Given the description of an element on the screen output the (x, y) to click on. 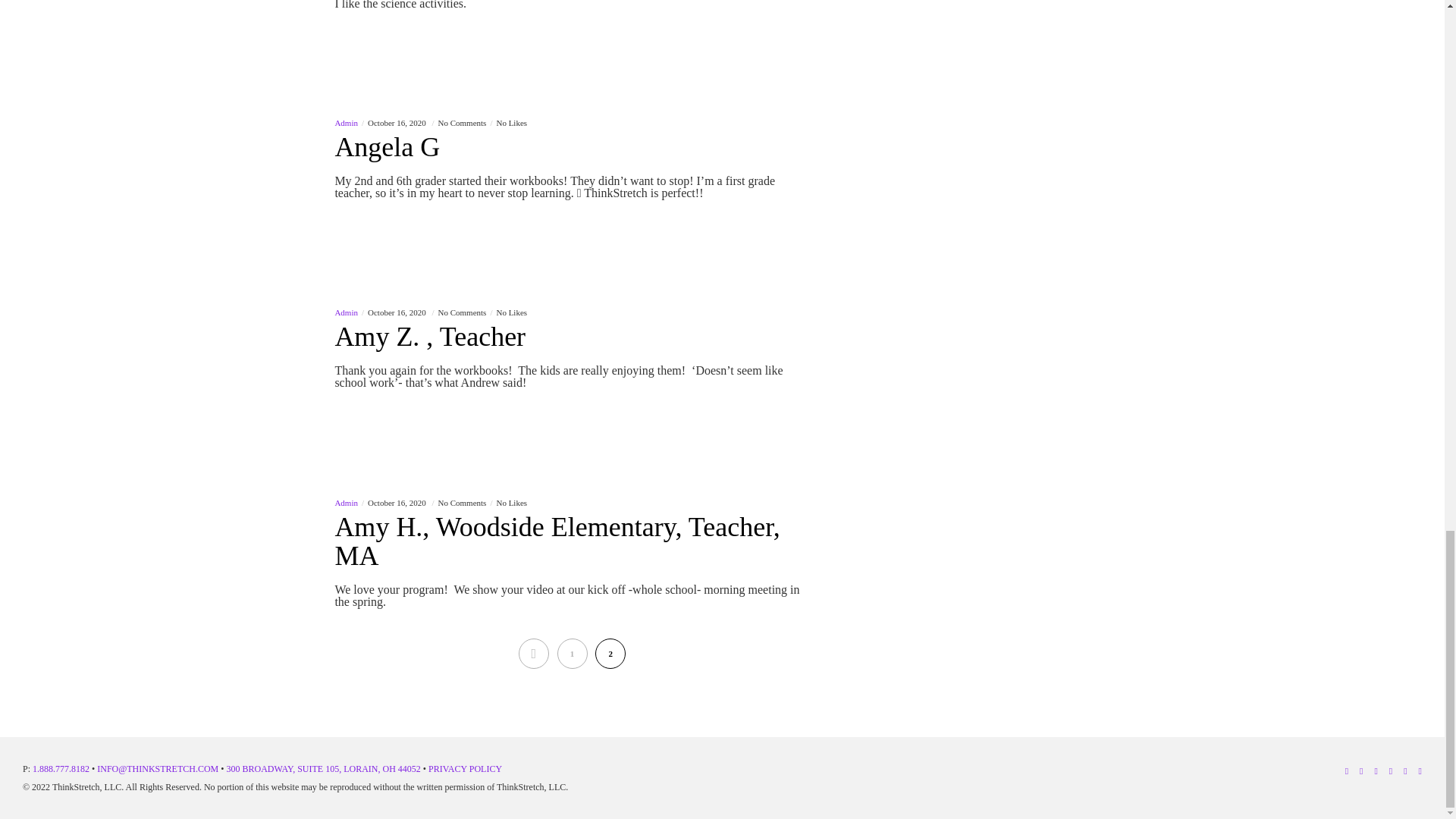
Admin (346, 122)
Angela G (571, 154)
PREVIOUS (533, 653)
Admin (346, 311)
Amy H., Woodside Elementary, Teacher, MA (571, 549)
Admin (346, 501)
1 (571, 653)
Amy Z. , Teacher (571, 344)
